Given the description of an element on the screen output the (x, y) to click on. 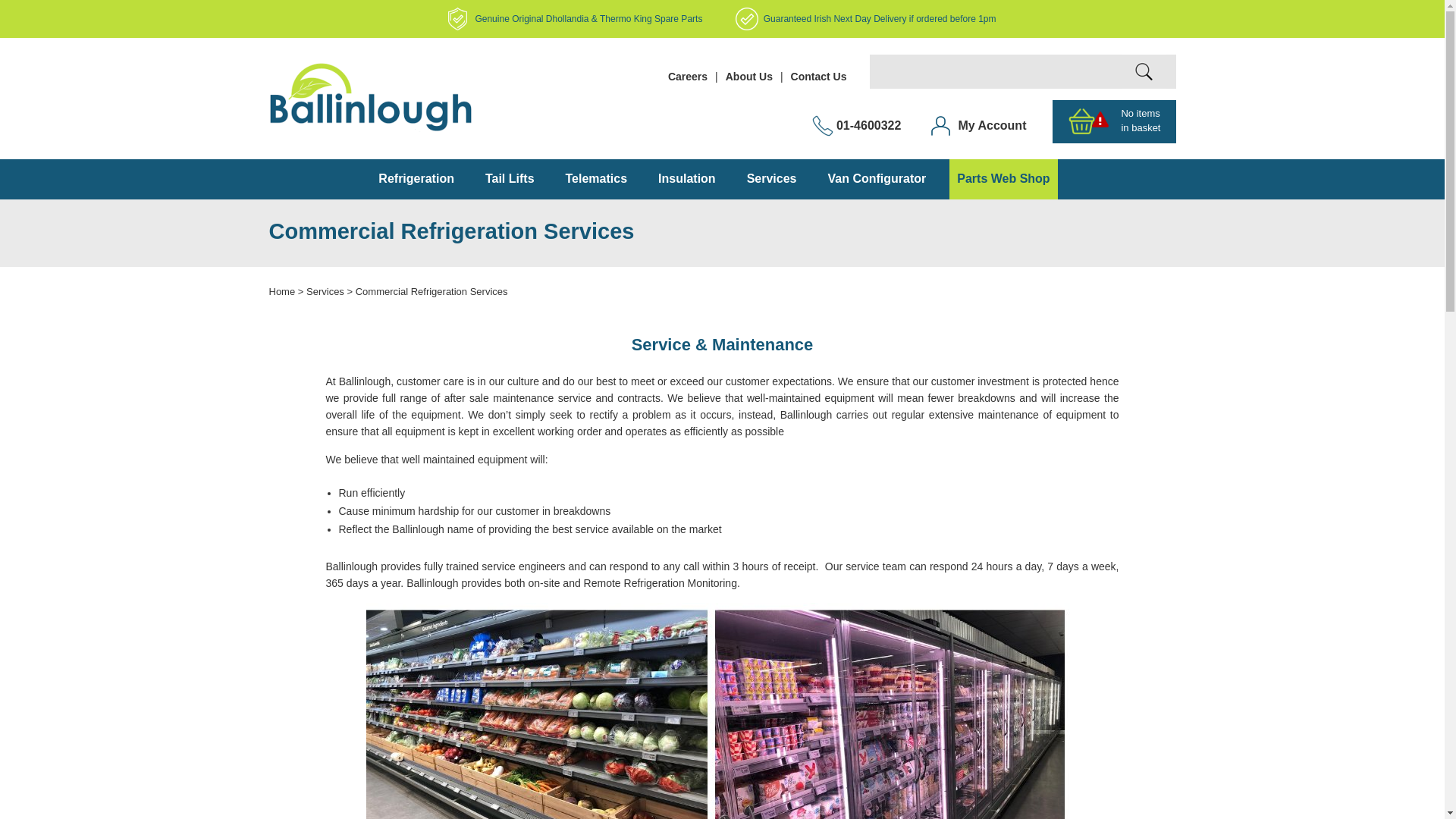
Telematics (596, 178)
Services (771, 178)
Careers (687, 76)
Parts Web Shop (1002, 178)
Contact Us (818, 76)
Home (281, 291)
Services (324, 291)
My Account (992, 124)
Commercial Refrigeration Services (431, 291)
Tail Lifts (509, 178)
